Given the description of an element on the screen output the (x, y) to click on. 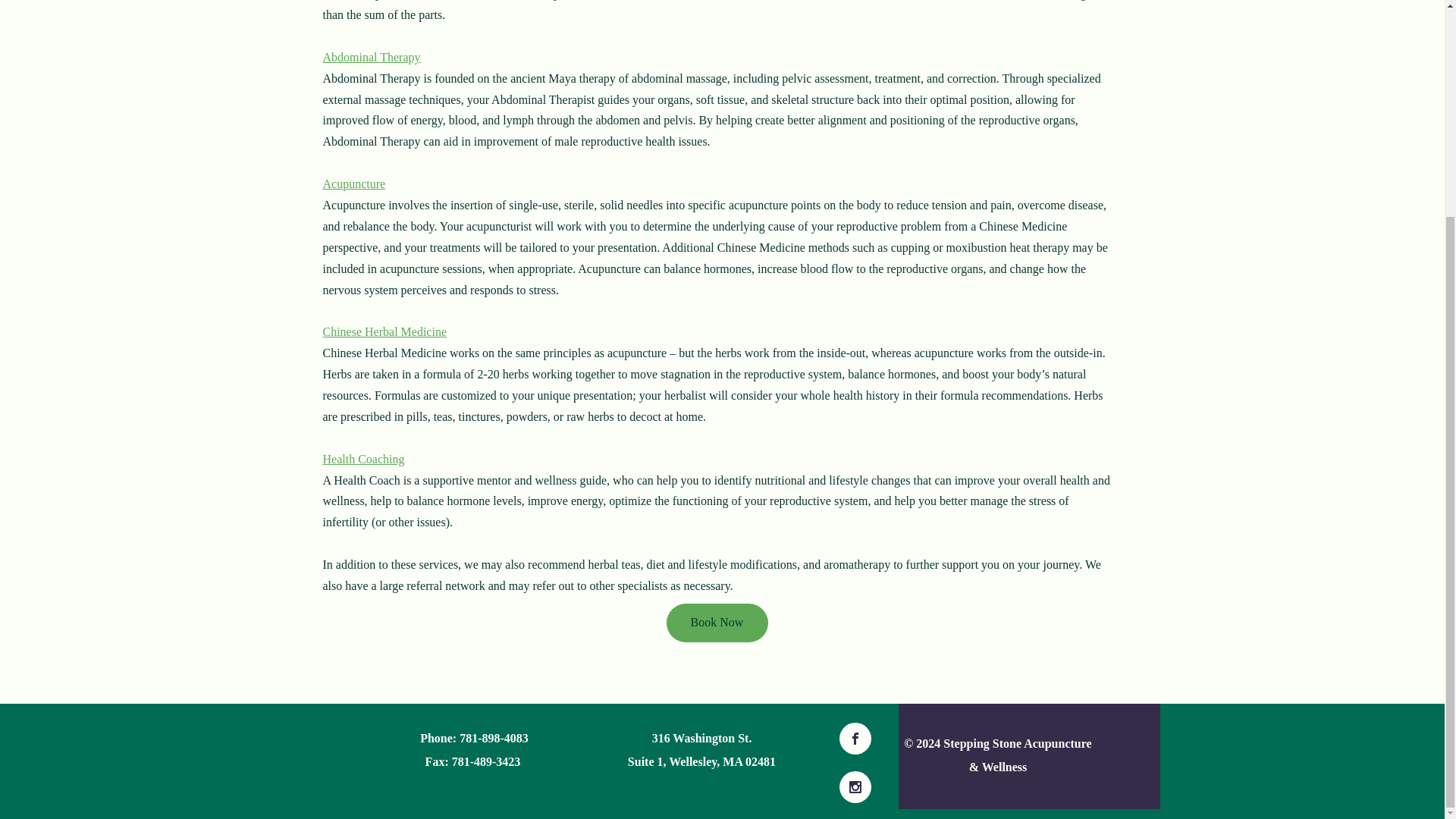
Acupuncture (354, 183)
Health Coaching (363, 458)
Book Now (716, 622)
Chinese Herbal Medicine (384, 331)
Abdominal Therapy (371, 56)
